Given the description of an element on the screen output the (x, y) to click on. 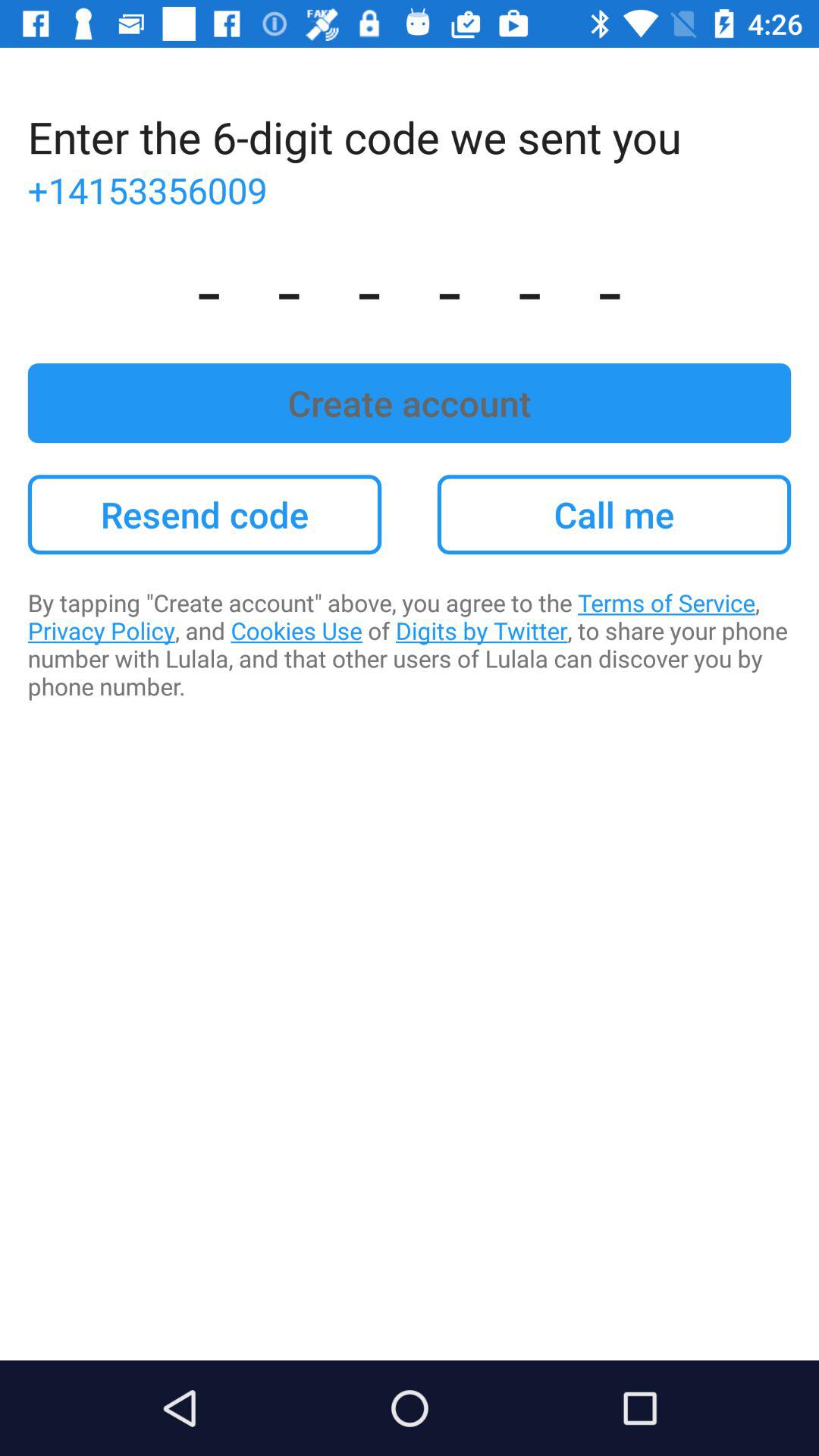
choose the icon above - - - - - - (409, 190)
